Given the description of an element on the screen output the (x, y) to click on. 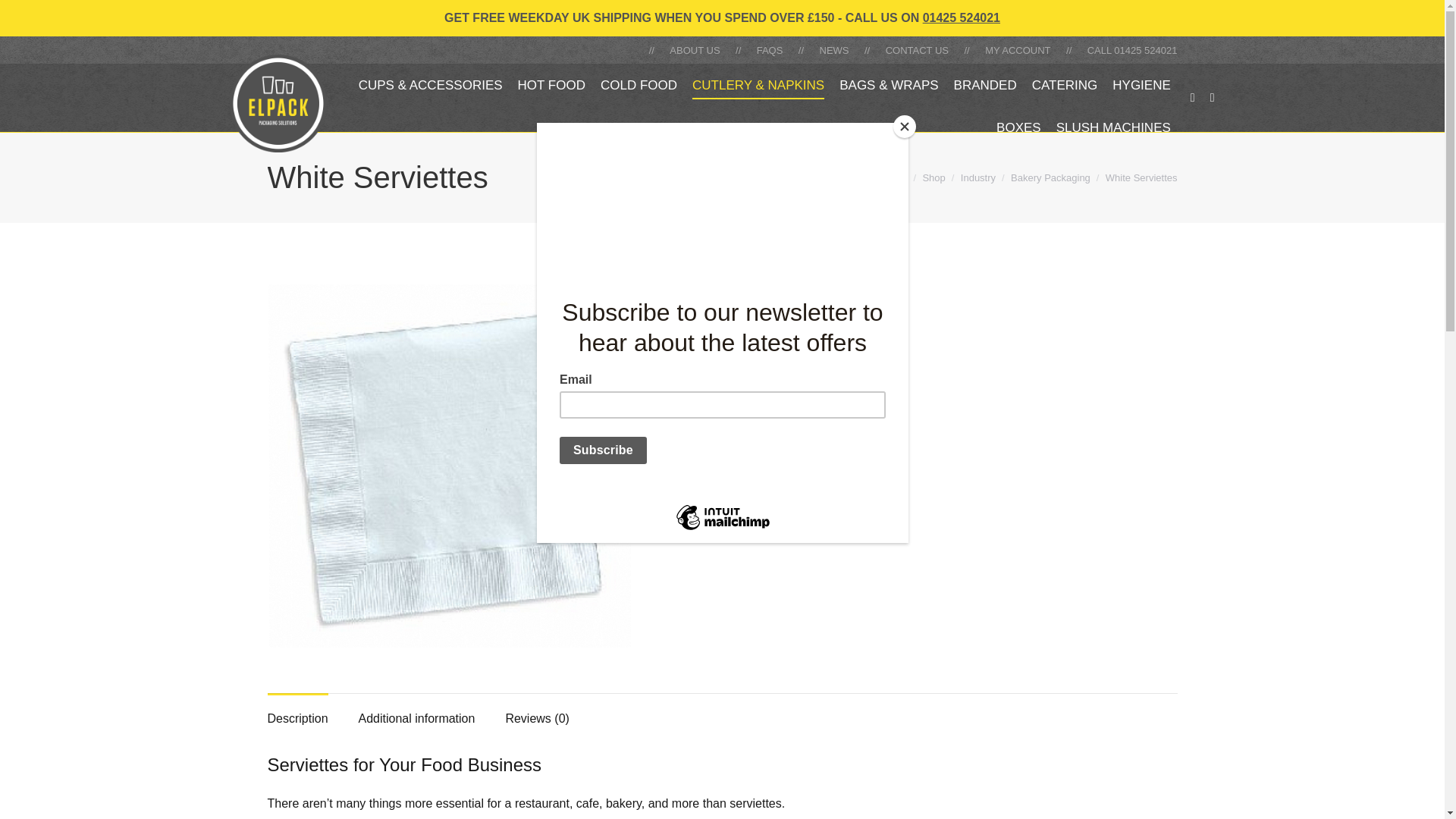
Bakery Packaging (1050, 176)
Shop (932, 176)
CALL 01425 524021 (1132, 49)
01425 524021 (961, 17)
ABOUT US (694, 49)
Industry (977, 176)
Home (893, 176)
CONTACT US (917, 49)
FAQS (770, 49)
MY ACCOUNT (1017, 49)
1 (706, 513)
NEWS (833, 49)
HOT FOOD (551, 84)
